Given the description of an element on the screen output the (x, y) to click on. 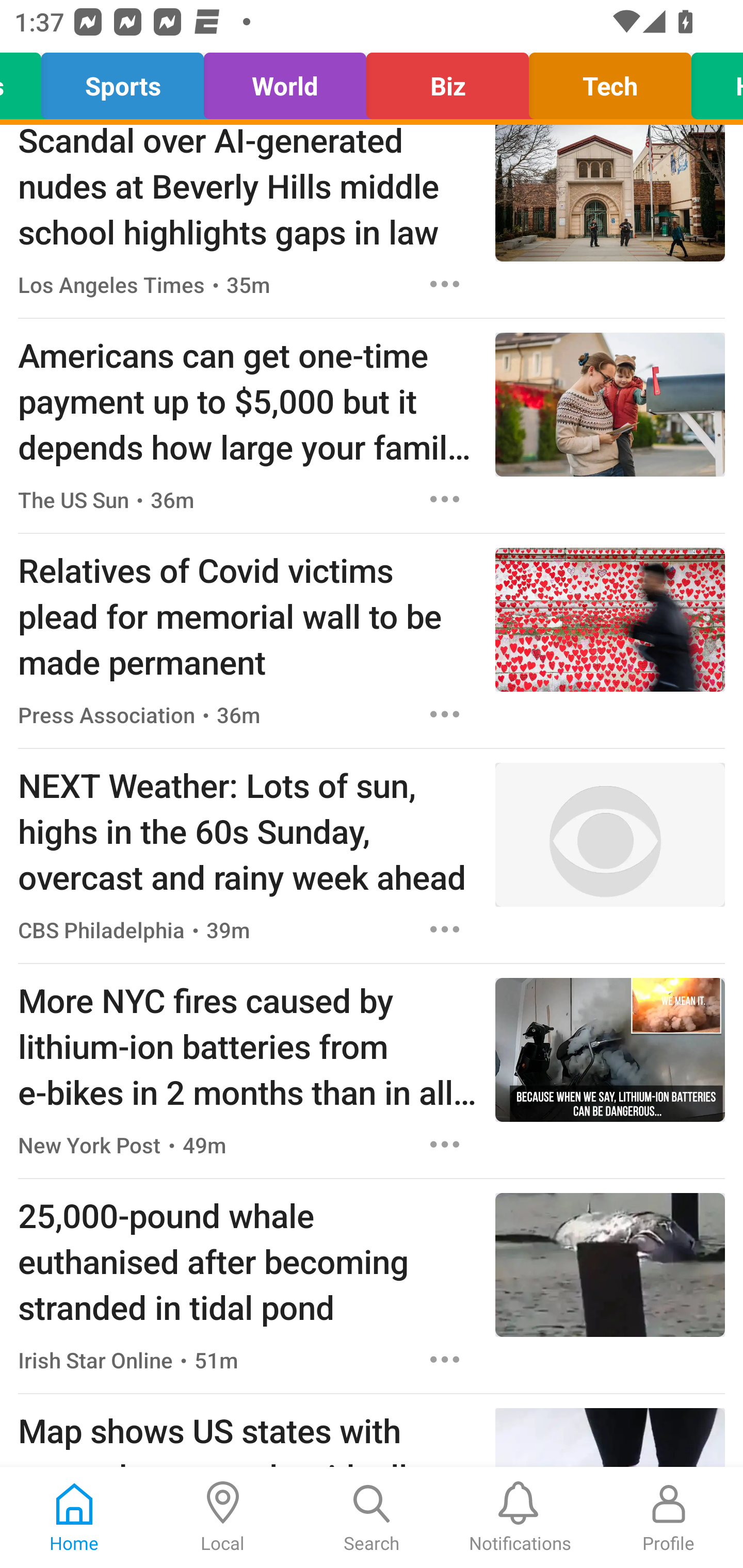
Sports (122, 81)
World (285, 81)
Biz (447, 81)
Tech (609, 81)
Options (444, 283)
Options (444, 499)
Options (444, 714)
Options (444, 929)
Options (444, 1144)
Options (444, 1359)
Local (222, 1517)
Search (371, 1517)
Notifications (519, 1517)
Profile (668, 1517)
